Given the description of an element on the screen output the (x, y) to click on. 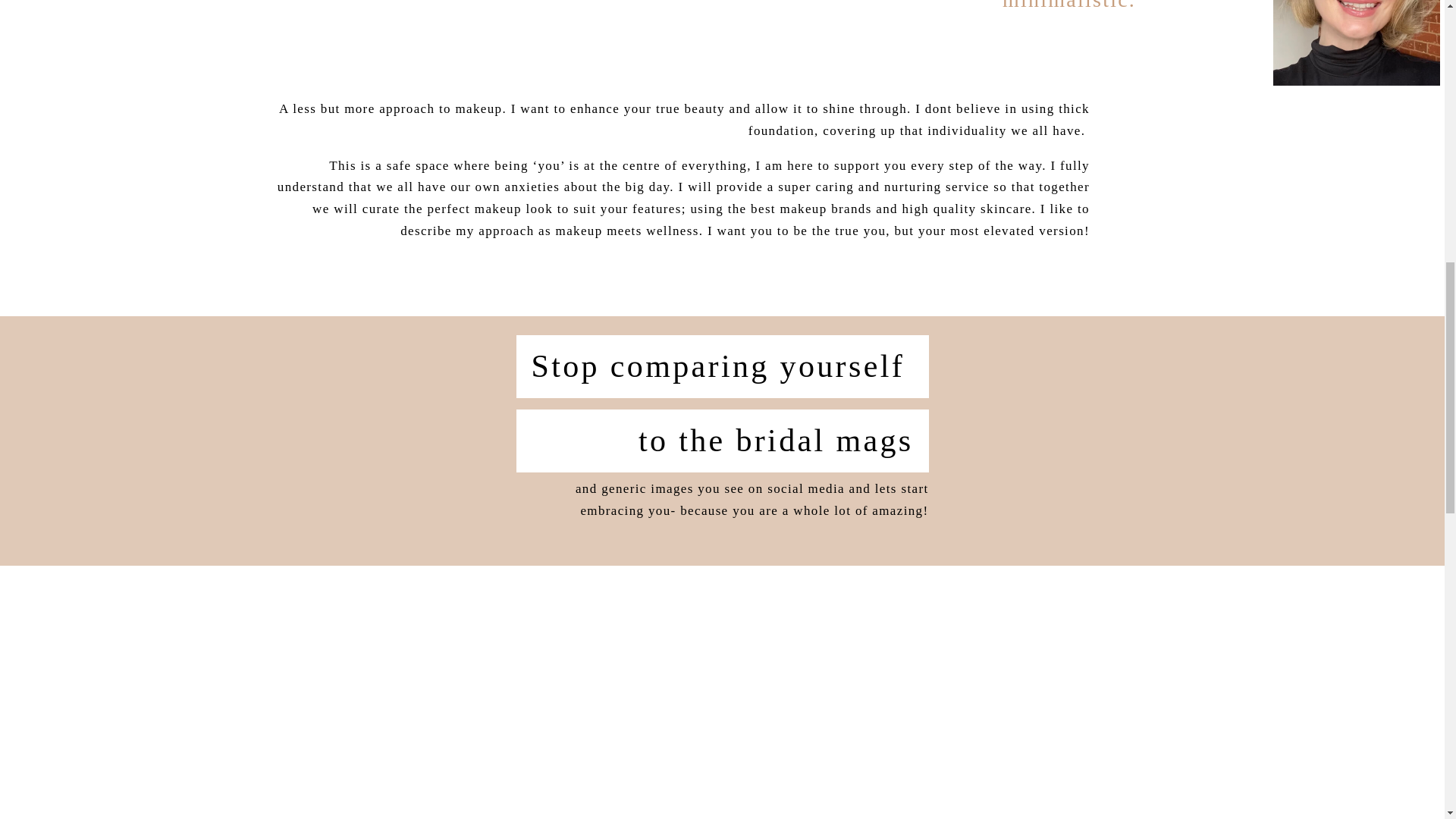
sian-harries-makeupartist (1355, 42)
